Given the description of an element on the screen output the (x, y) to click on. 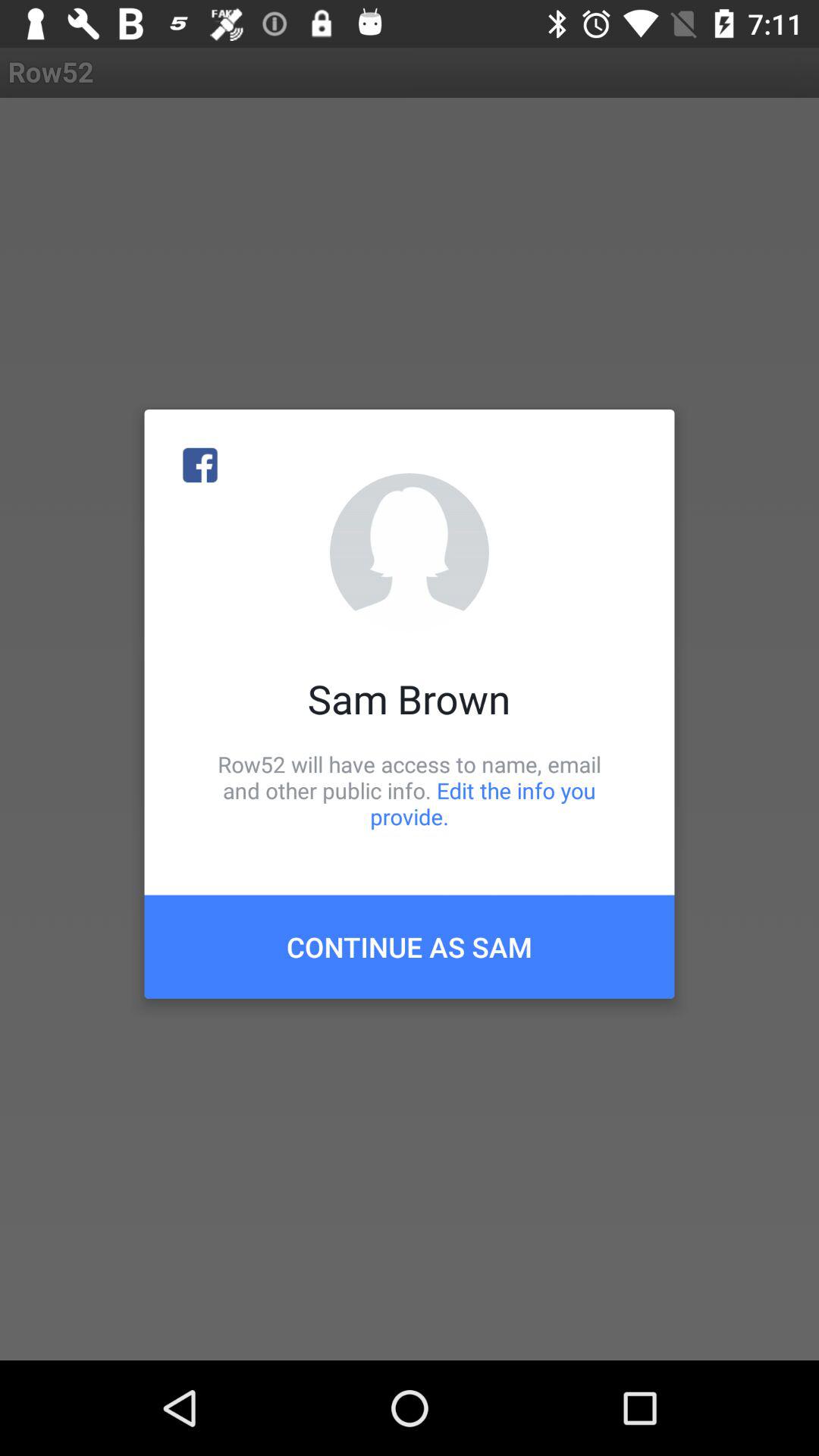
select the item below sam brown item (409, 790)
